Given the description of an element on the screen output the (x, y) to click on. 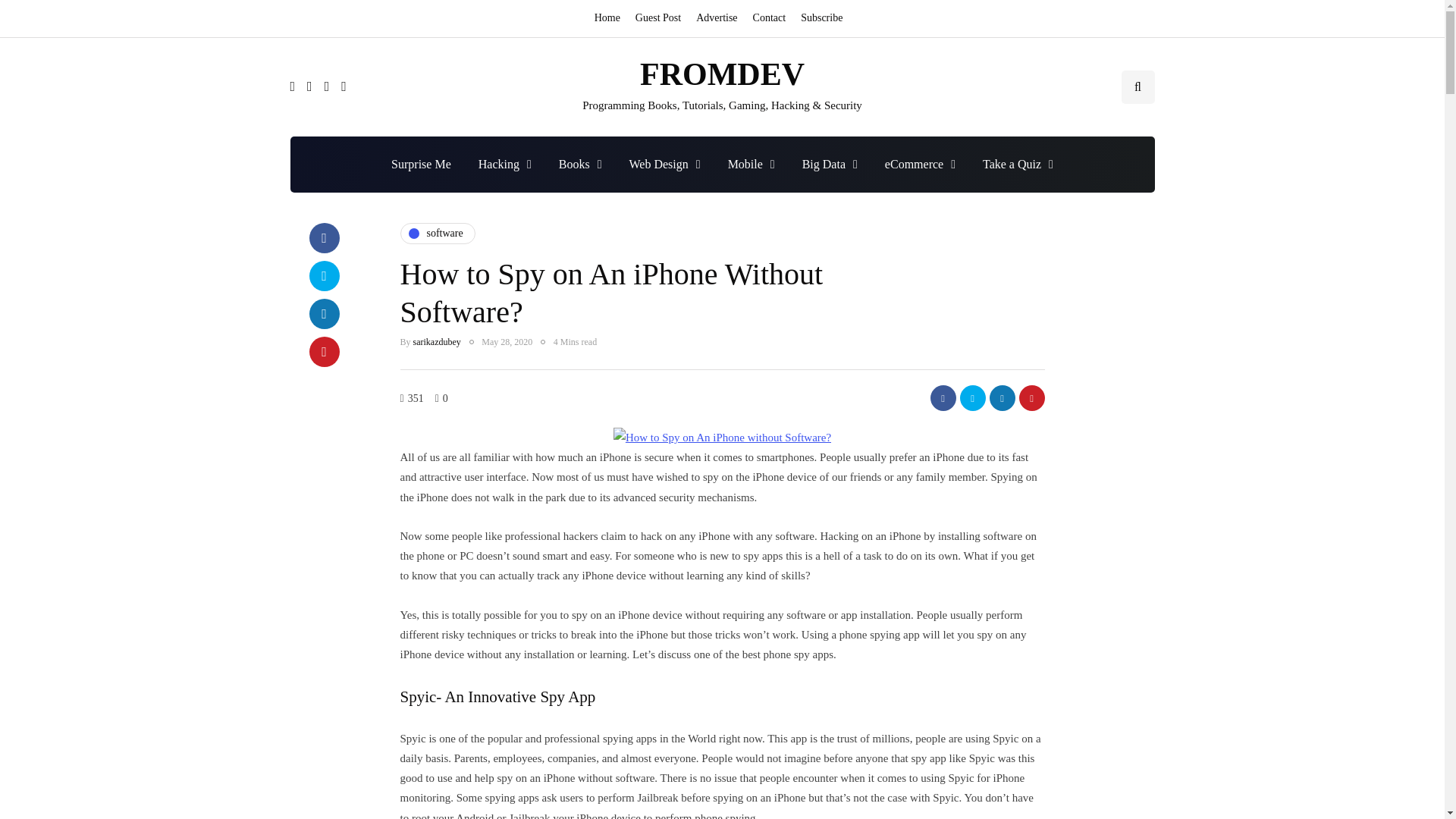
Mobile (751, 163)
Books (579, 163)
Guest Post (657, 18)
FROMDEV (722, 73)
Subscribe (821, 18)
Advertise (716, 18)
Home (610, 18)
Contact (769, 18)
Hacking (504, 163)
Web Design (664, 163)
